Given the description of an element on the screen output the (x, y) to click on. 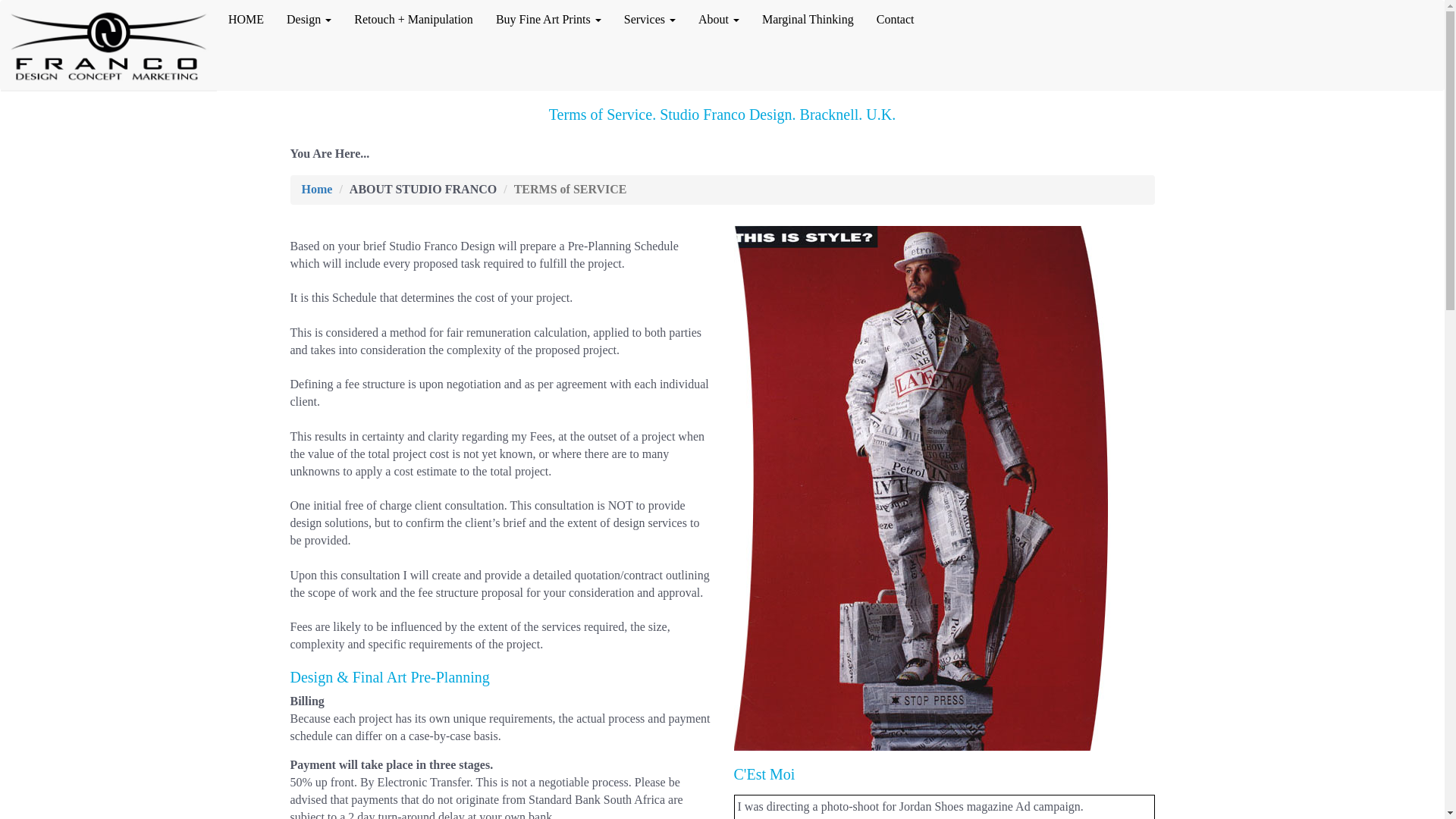
Buy Fine Art Prints (548, 19)
Design (308, 19)
About (719, 19)
Services (649, 19)
Marginal Thinking (807, 19)
HOME (245, 19)
